Given the description of an element on the screen output the (x, y) to click on. 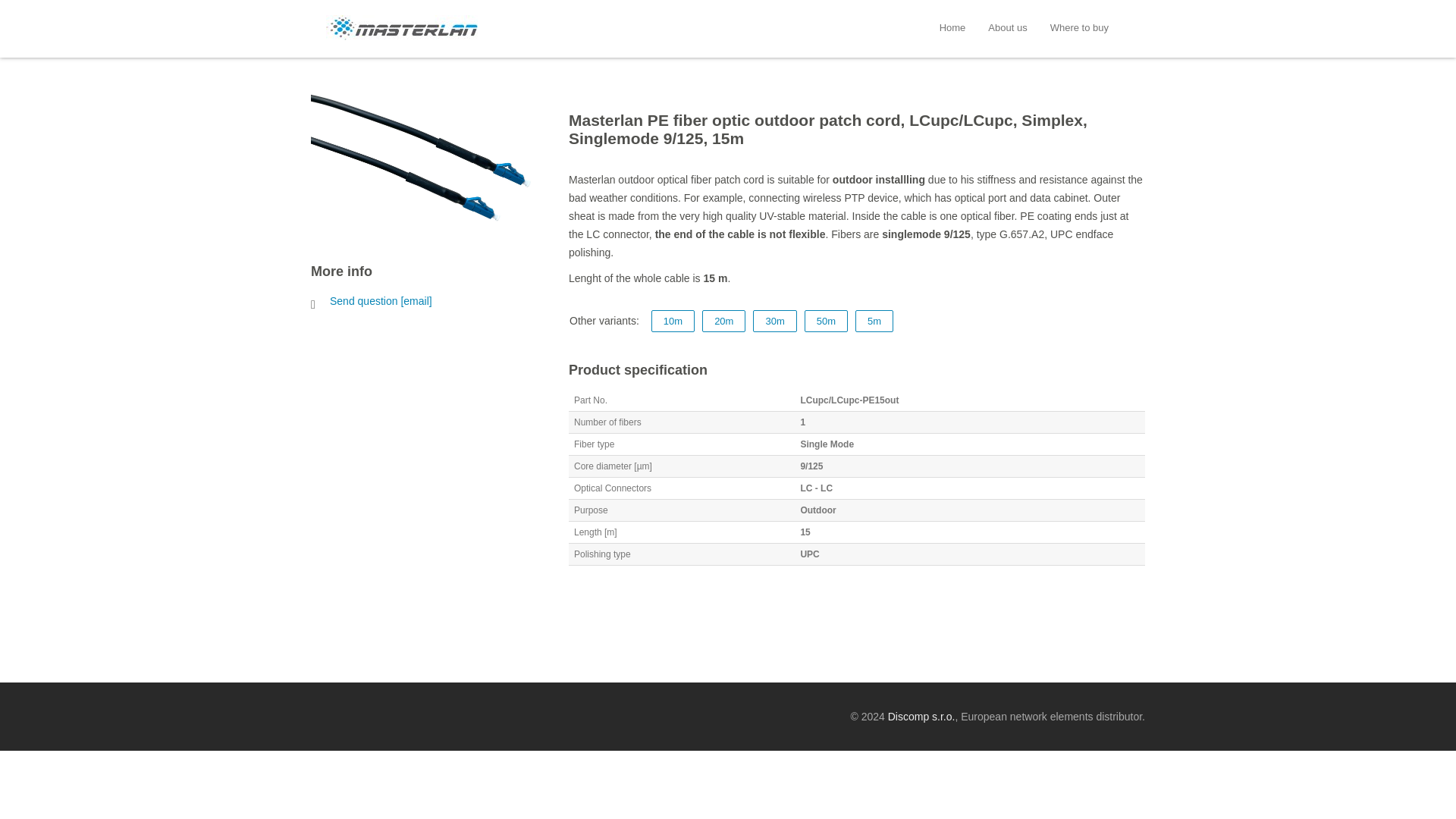
20m (723, 321)
Where to buy (1078, 27)
Home (952, 27)
5m (874, 321)
About us (1007, 27)
30m (774, 321)
Discomp s.r.o. (921, 716)
50m (826, 321)
10m (672, 321)
Masterlan (401, 36)
